Given the description of an element on the screen output the (x, y) to click on. 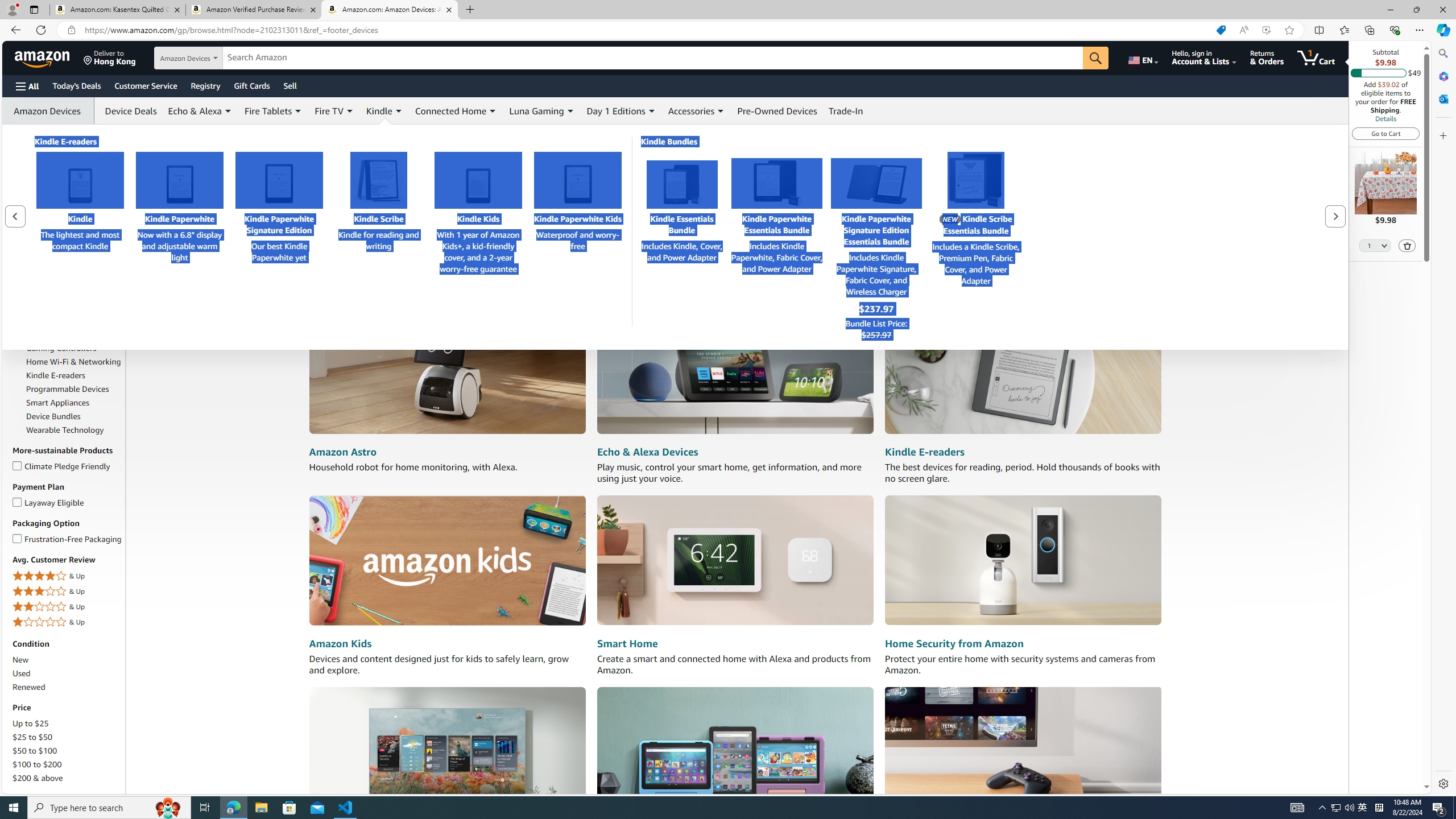
Climate Pledge Friendly (17, 463)
Kindle Paperwhite Essentials Bundle (776, 183)
Smart Home devices (734, 560)
Kindle E-readers (923, 451)
Echo & Alexa (199, 110)
Accessories (697, 110)
Fire Tablets (46, 334)
Smart Home Security & Lighting (69, 276)
$50 to $100 (67, 750)
Coming Soon (67, 181)
